Given the description of an element on the screen output the (x, y) to click on. 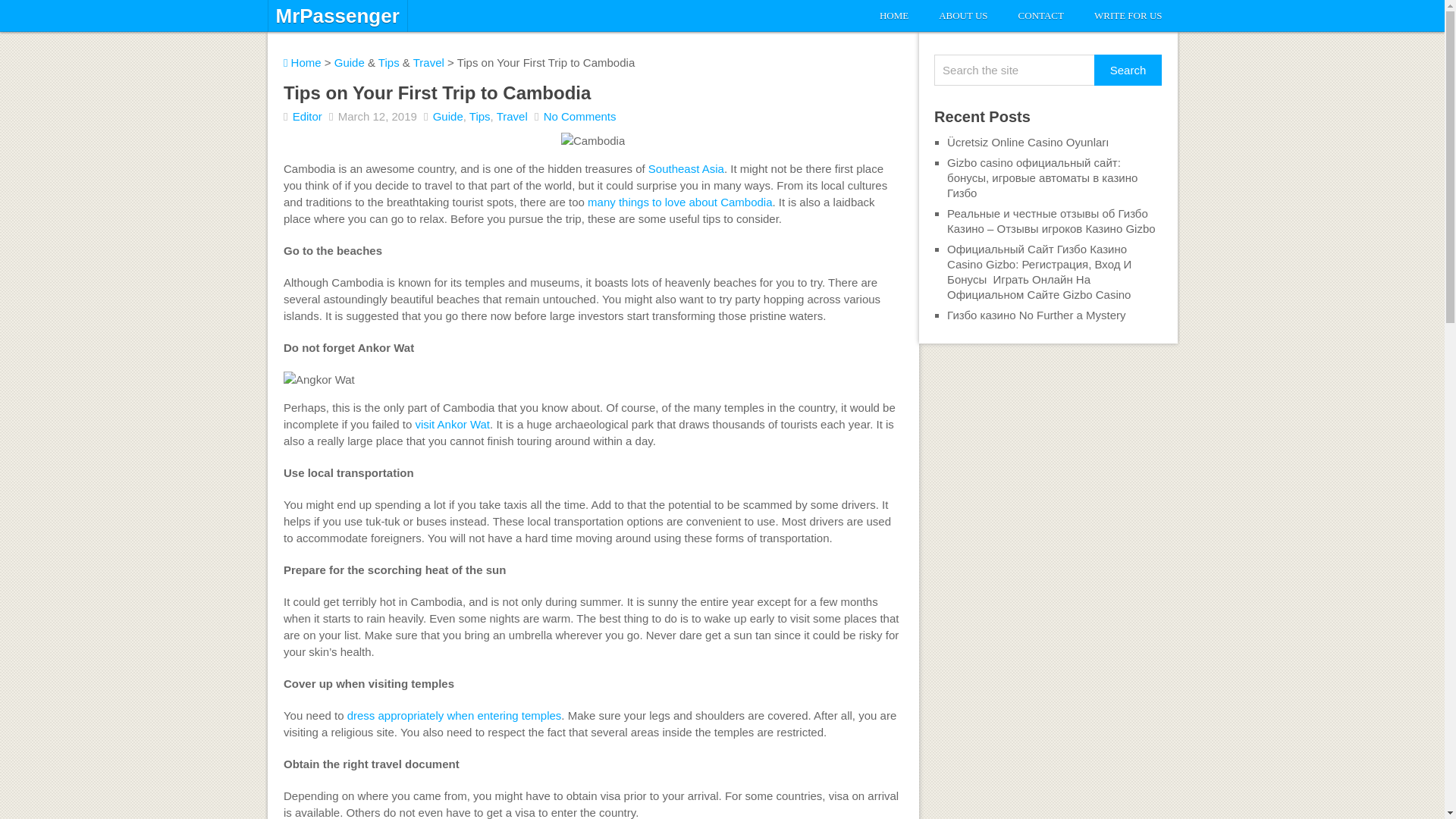
Search the site (1014, 69)
Tips (388, 62)
Search (1127, 69)
MrPassenger (337, 15)
Posts by Editor (306, 115)
HOME (893, 15)
Guide (349, 62)
dress appropriately when entering temples (454, 715)
Search (1127, 69)
Guide (447, 115)
